Given the description of an element on the screen output the (x, y) to click on. 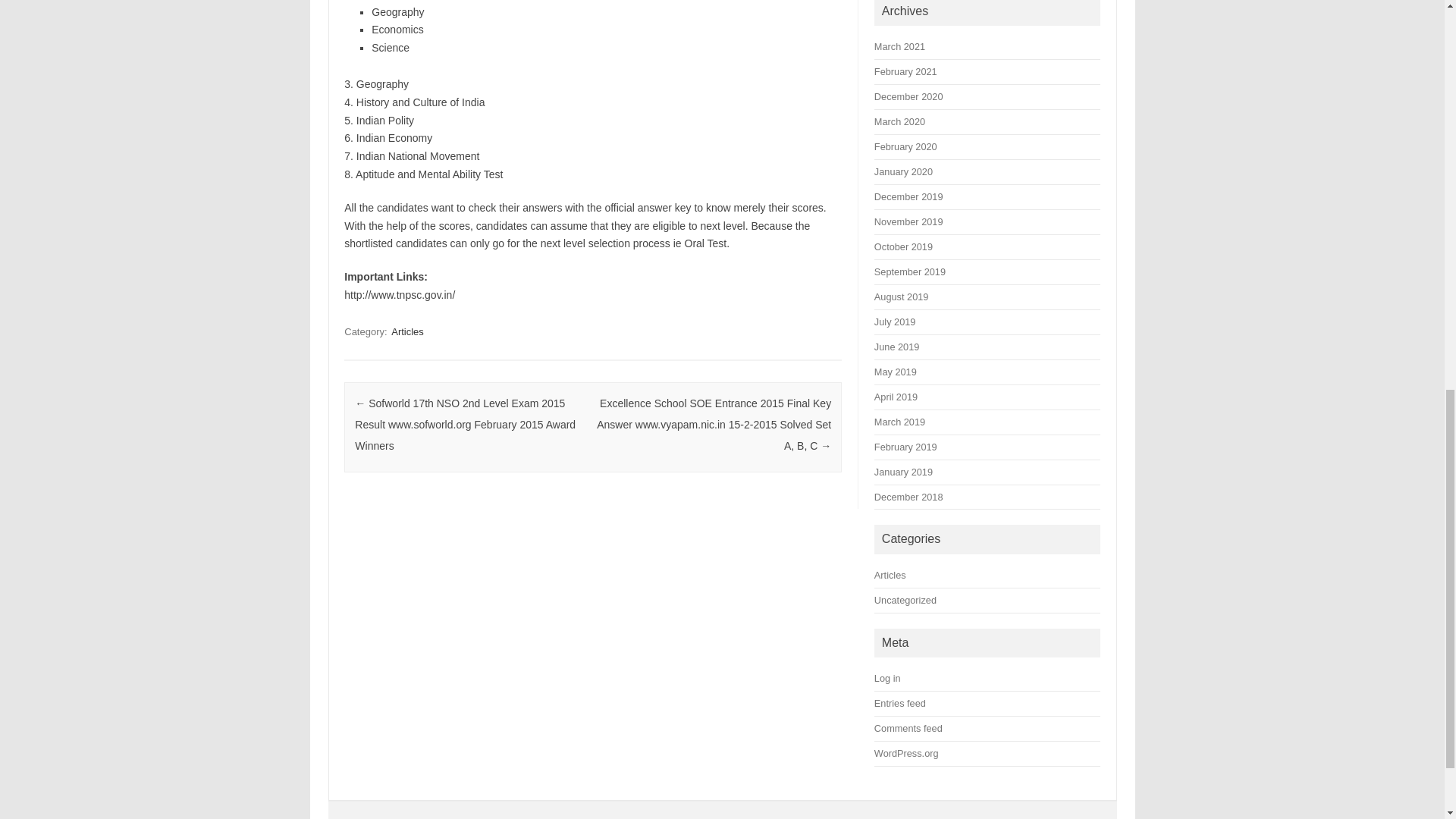
March 2020 (899, 121)
March 2019 (899, 421)
January 2019 (904, 471)
July 2019 (895, 321)
March 2021 (899, 46)
December 2020 (909, 96)
October 2019 (904, 246)
September 2019 (909, 271)
April 2019 (896, 396)
January 2020 (904, 171)
February 2021 (906, 71)
Articles (407, 331)
August 2019 (901, 296)
February 2019 (906, 446)
December 2018 (909, 496)
